Given the description of an element on the screen output the (x, y) to click on. 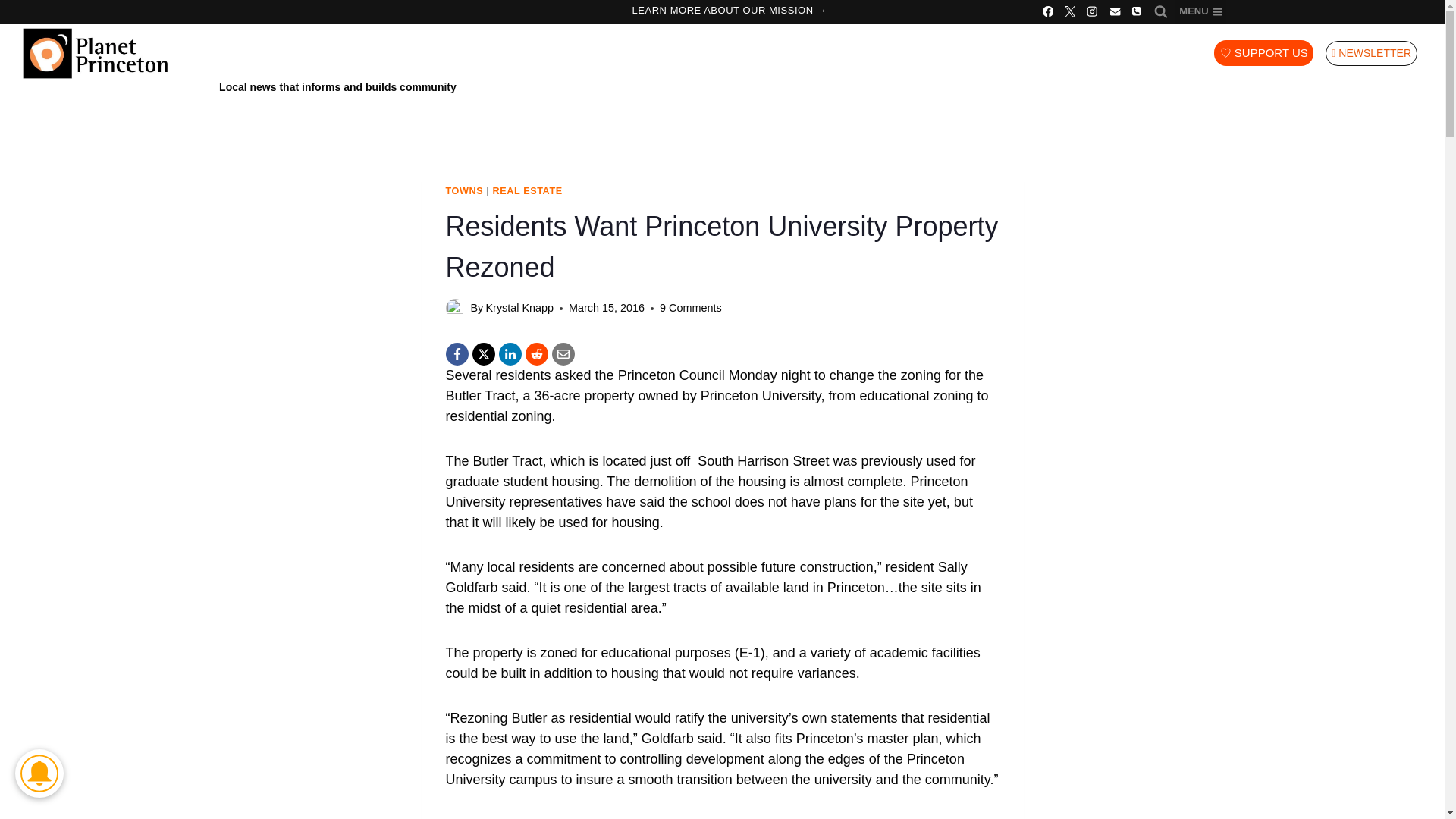
MENU (1199, 11)
REAL ESTATE (527, 190)
Krystal Knapp (518, 307)
TOWNS (464, 190)
9 Comments (690, 308)
9 Comments (690, 308)
